Given the description of an element on the screen output the (x, y) to click on. 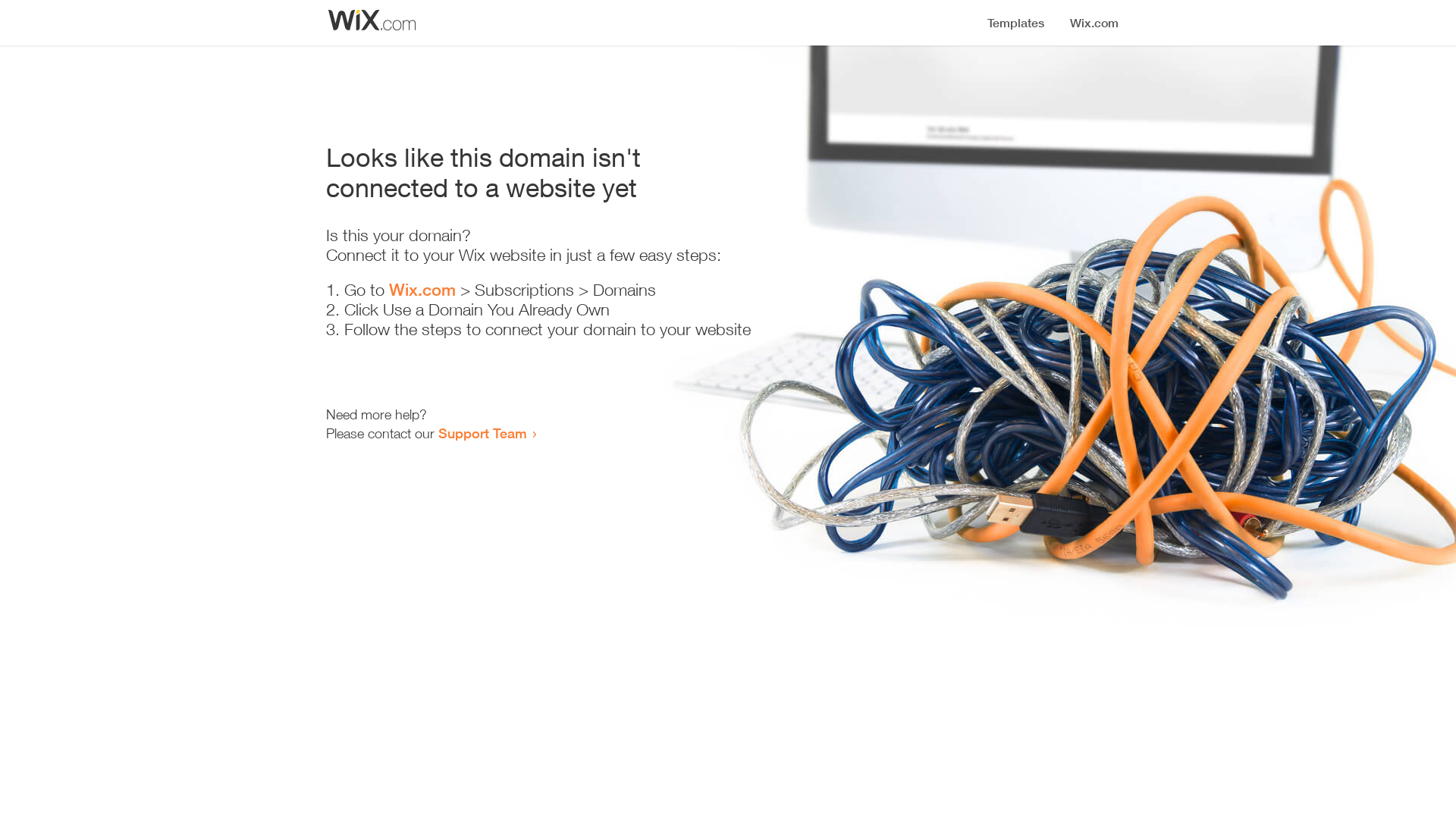
Wix.com Element type: text (422, 289)
Support Team Element type: text (482, 432)
